Given the description of an element on the screen output the (x, y) to click on. 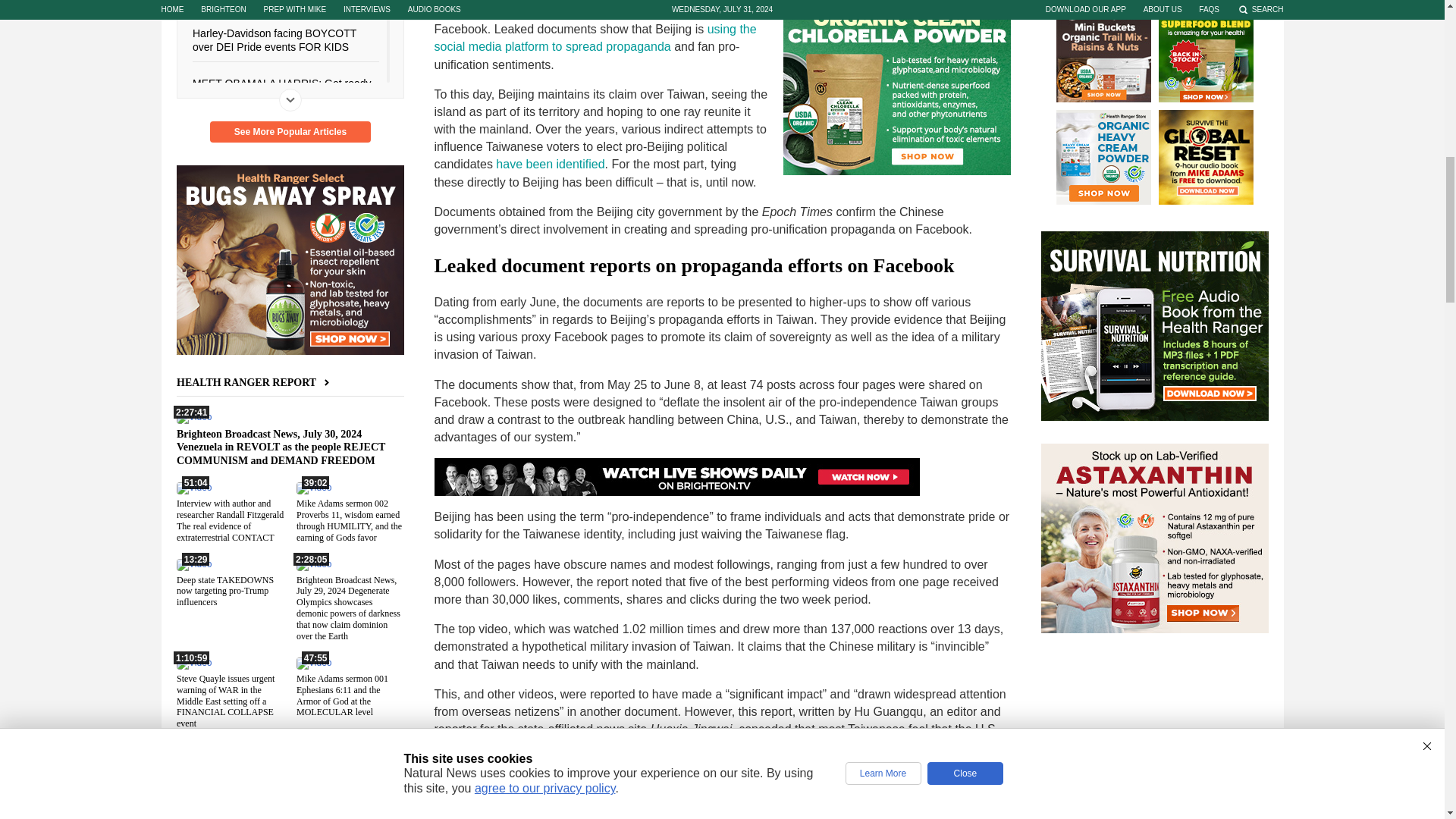
Scroll Down (290, 99)
